Given the description of an element on the screen output the (x, y) to click on. 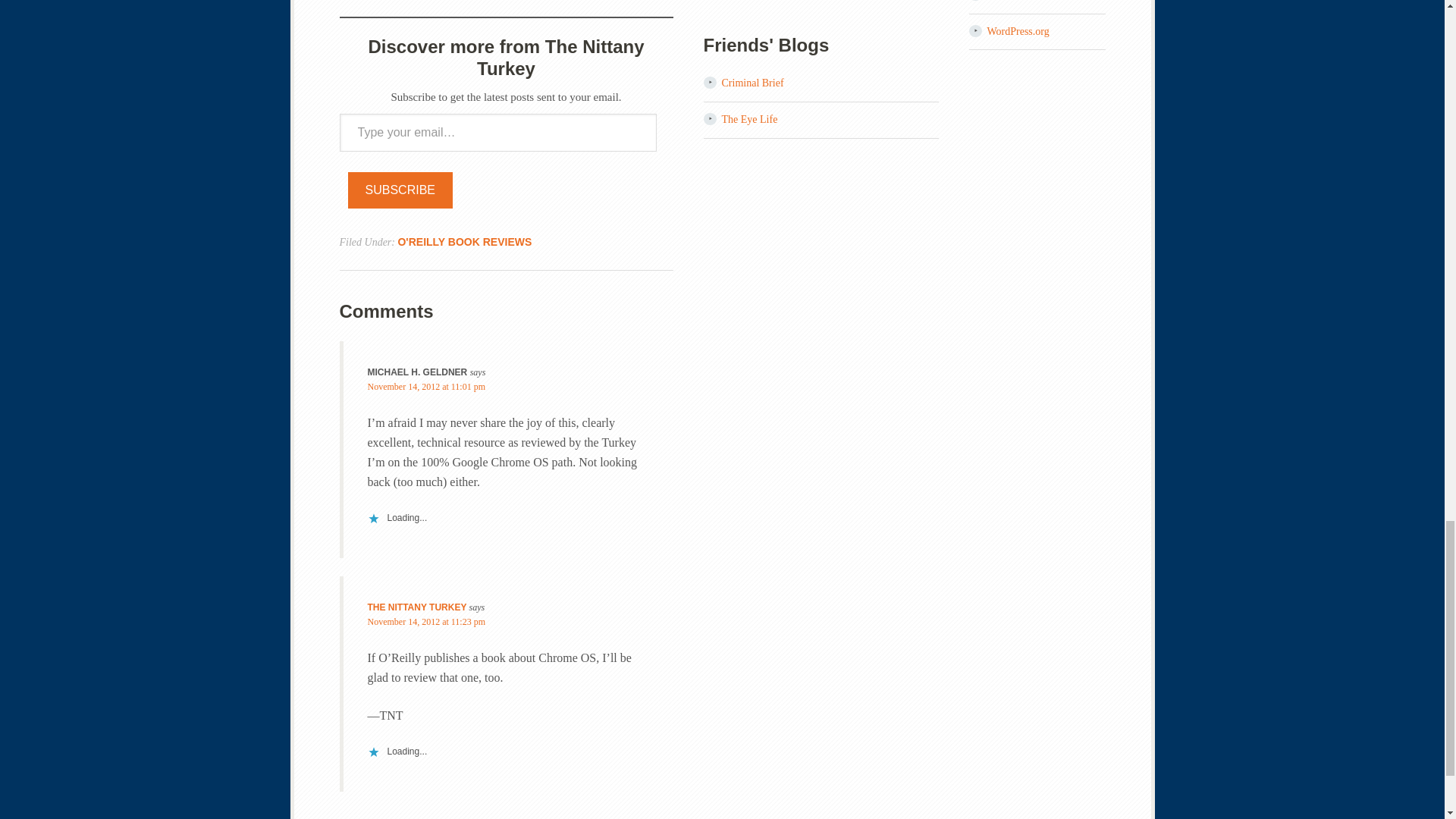
THE NITTANY TURKEY (415, 606)
November 14, 2012 at 11:23 pm (425, 621)
O'REILLY BOOK REVIEWS (464, 241)
November 14, 2012 at 11:01 pm (425, 386)
Please fill in this field. (497, 132)
SUBSCRIBE (399, 190)
